Given the description of an element on the screen output the (x, y) to click on. 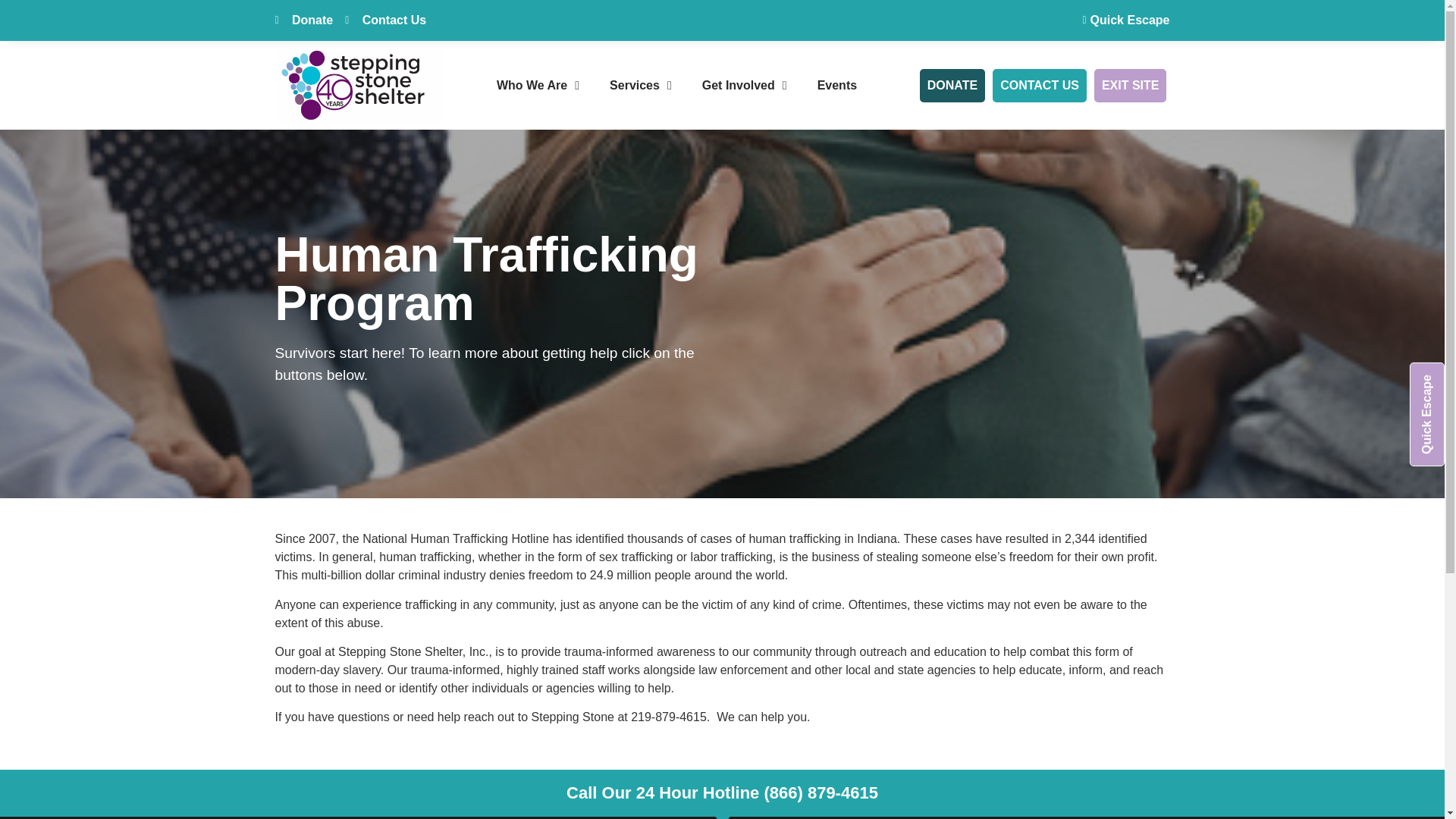
Services (640, 85)
Quick Escape (1121, 20)
Who We Are (537, 85)
Donate (304, 20)
Get Involved (744, 85)
Events (837, 85)
Contact Us (385, 20)
